Given the description of an element on the screen output the (x, y) to click on. 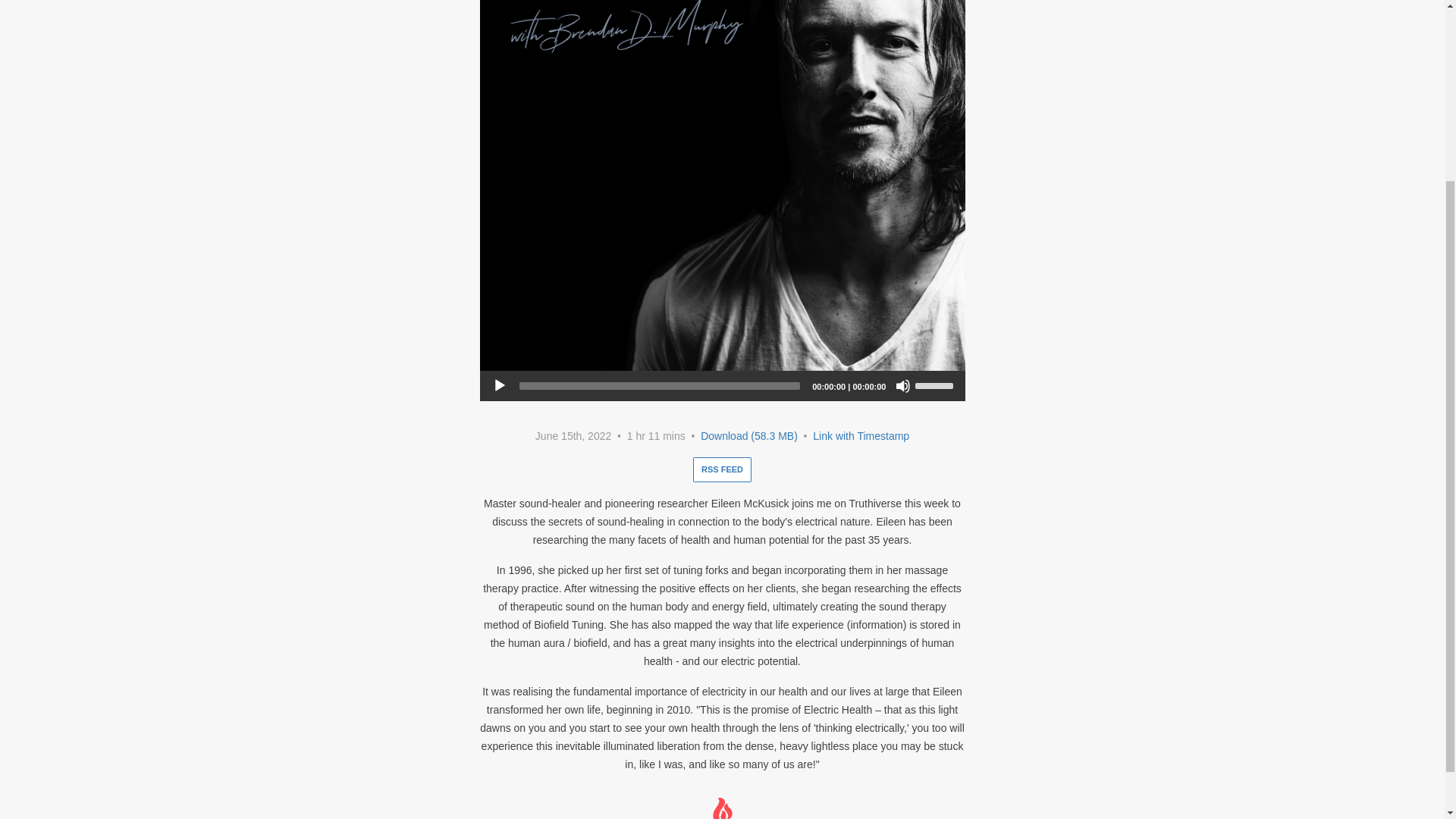
Link with Timestamp (860, 435)
RSS FEED (722, 469)
Play (499, 385)
Mute (902, 385)
